Given the description of an element on the screen output the (x, y) to click on. 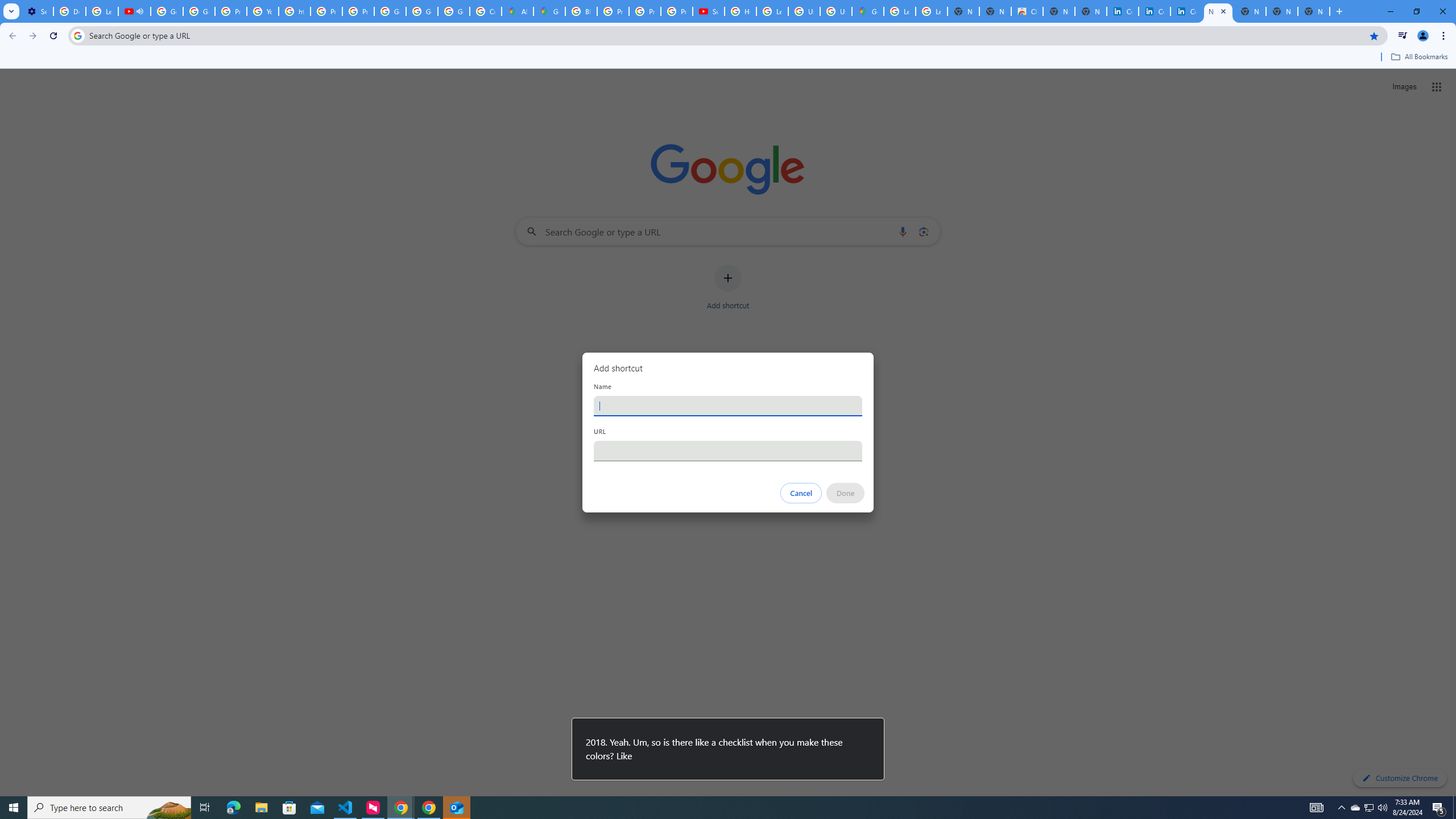
Privacy Help Center - Policies Help (644, 11)
Learn how to find your photos - Google Photos Help (101, 11)
Google Account Help (166, 11)
Google Account Help (198, 11)
